Given the description of an element on the screen output the (x, y) to click on. 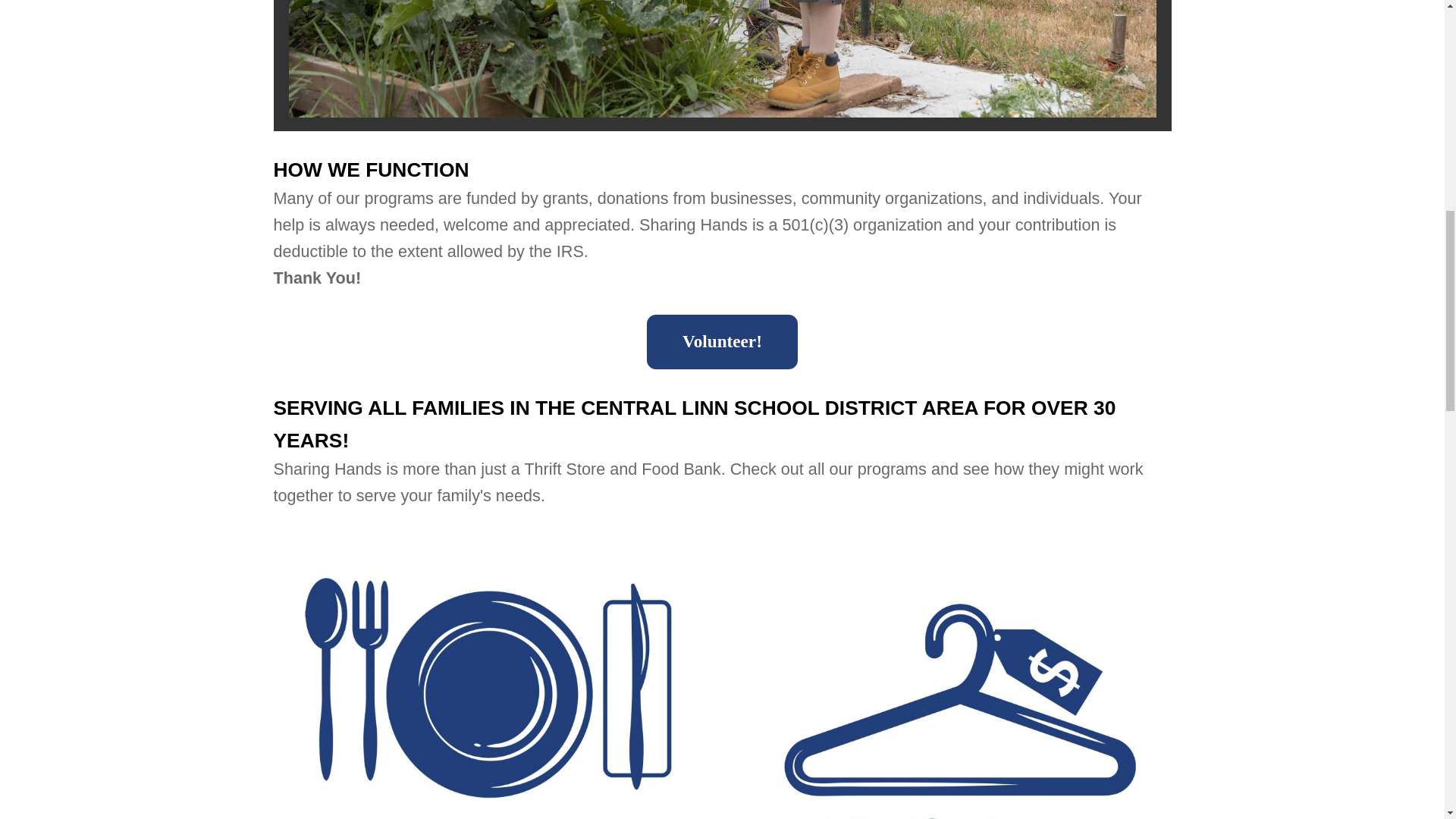
Provides food and necessities for families in need. (480, 675)
